Given the description of an element on the screen output the (x, y) to click on. 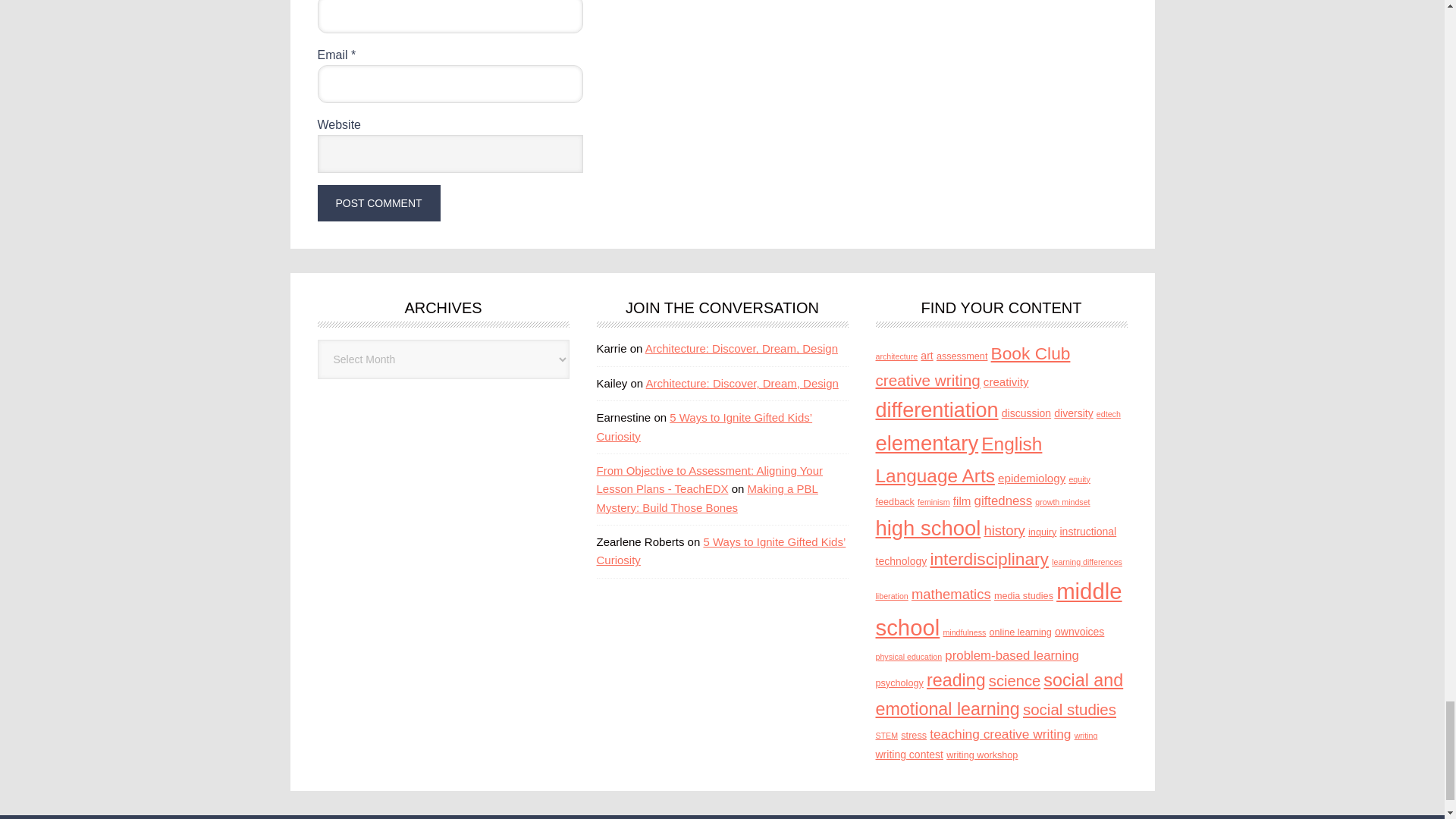
Post Comment (378, 203)
